Given the description of an element on the screen output the (x, y) to click on. 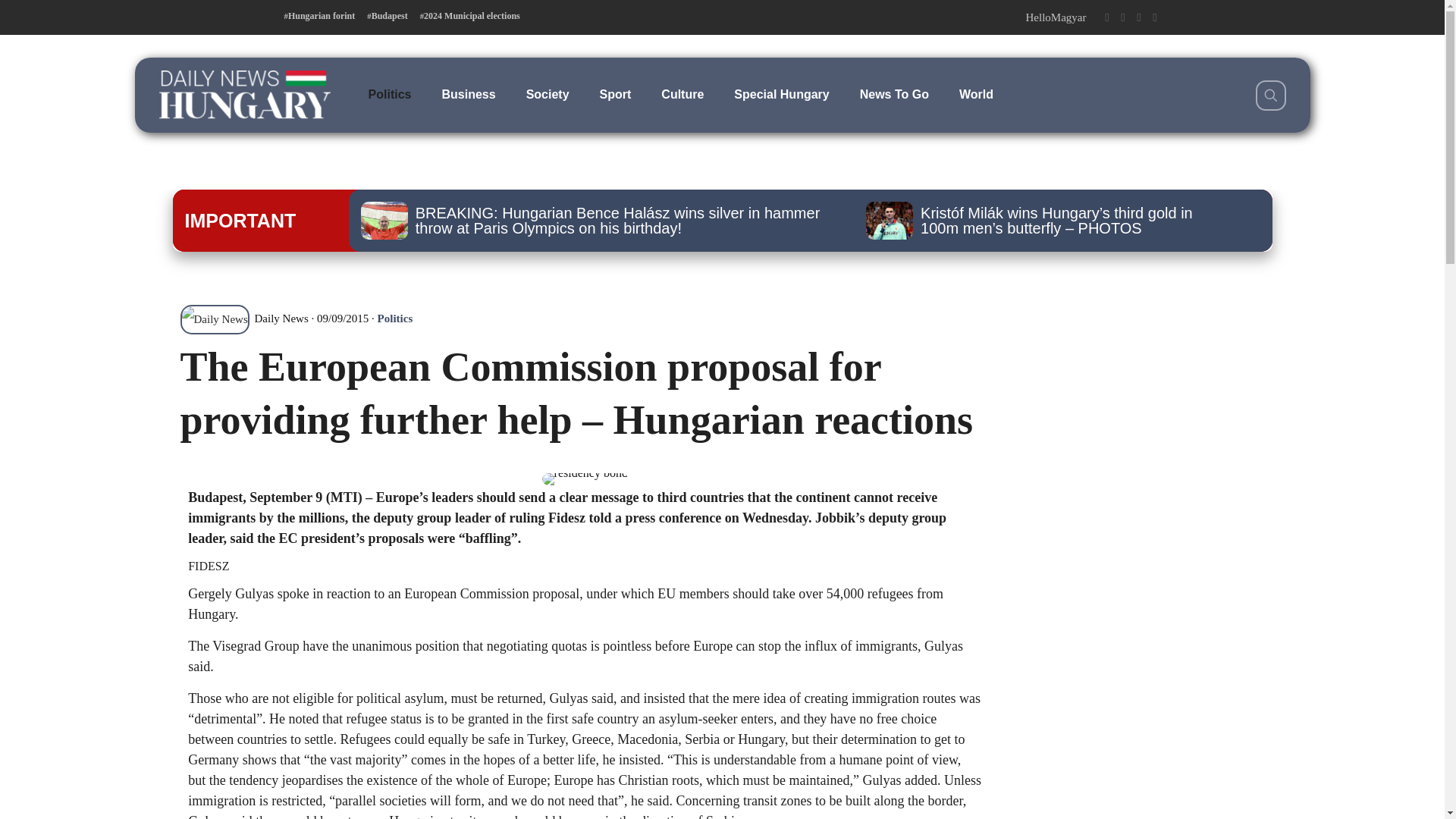
Culture (682, 94)
Hungarian forint (319, 15)
Facebook (1106, 17)
RSS (1155, 17)
Business (468, 94)
Politics (389, 94)
Daily News (244, 318)
HelloMagyar (1055, 17)
Instagram (1138, 17)
Society (548, 94)
Politics (395, 318)
2024 Municipal elections (469, 15)
News To Go (893, 94)
Daily News Hungary (244, 94)
Budapest (386, 15)
